Given the description of an element on the screen output the (x, y) to click on. 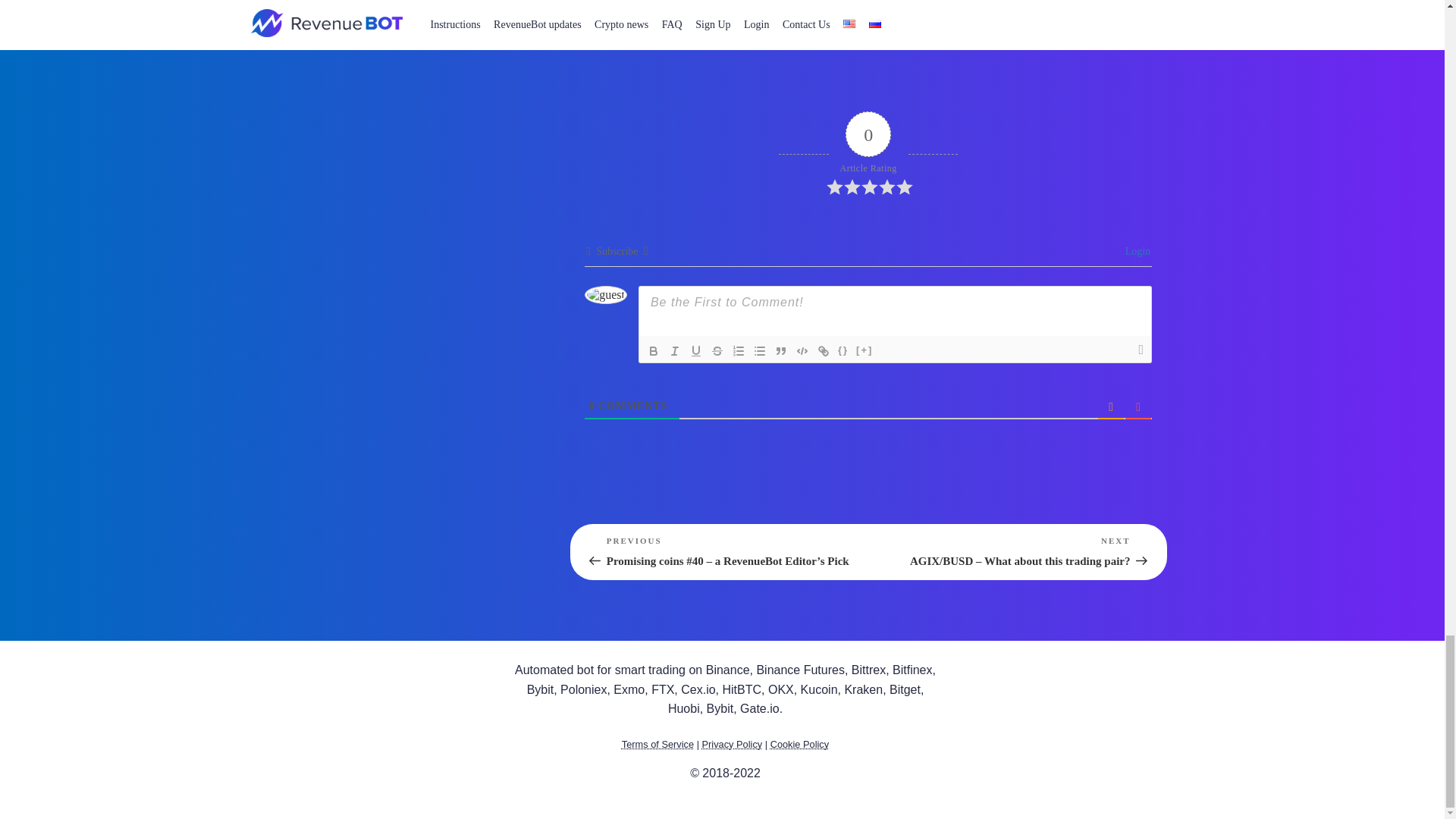
Strike (717, 351)
Source Code (842, 351)
bullet (759, 351)
Ordered List (738, 351)
Bold (653, 351)
Italic (674, 351)
ordered (738, 351)
Link (823, 351)
Underline (695, 351)
Login (1135, 251)
